Given the description of an element on the screen output the (x, y) to click on. 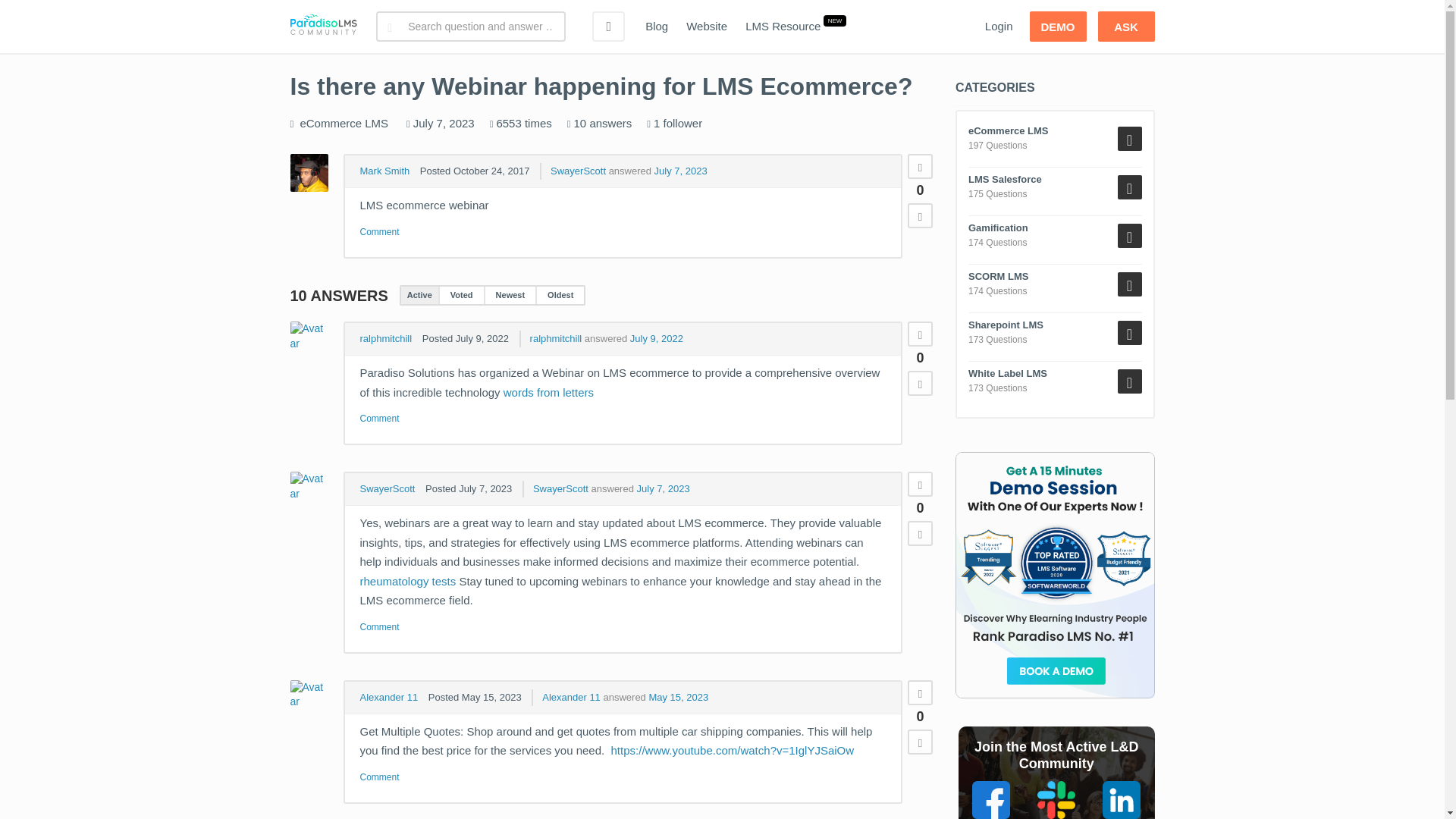
Paradiso  Community  (323, 26)
Voted (461, 294)
SwayerScott (577, 170)
Login (998, 26)
Active (419, 294)
LMS Resource (782, 26)
Newest (509, 294)
LMS Resource (782, 26)
Search for: (470, 26)
Website (706, 26)
Comments (378, 231)
Blog (656, 26)
ASK (1125, 26)
Blog (656, 26)
Up vote this post (920, 166)
